Given the description of an element on the screen output the (x, y) to click on. 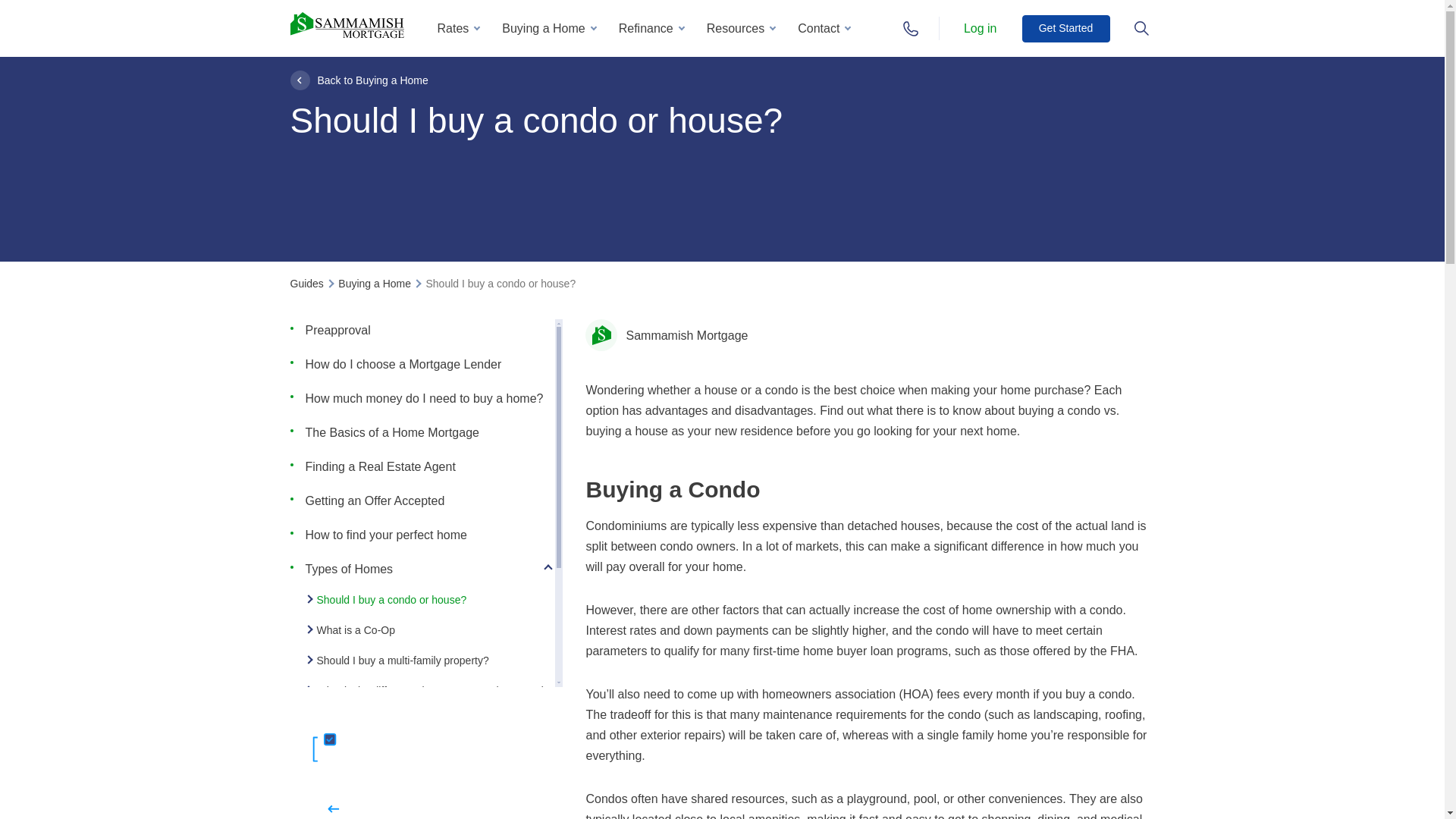
Rates (458, 27)
Resources (740, 27)
Back to Buying a Home (358, 79)
Get Started (1065, 28)
Contact (824, 27)
Buying a Home (548, 27)
Refinance (651, 27)
Log in (979, 28)
